Given the description of an element on the screen output the (x, y) to click on. 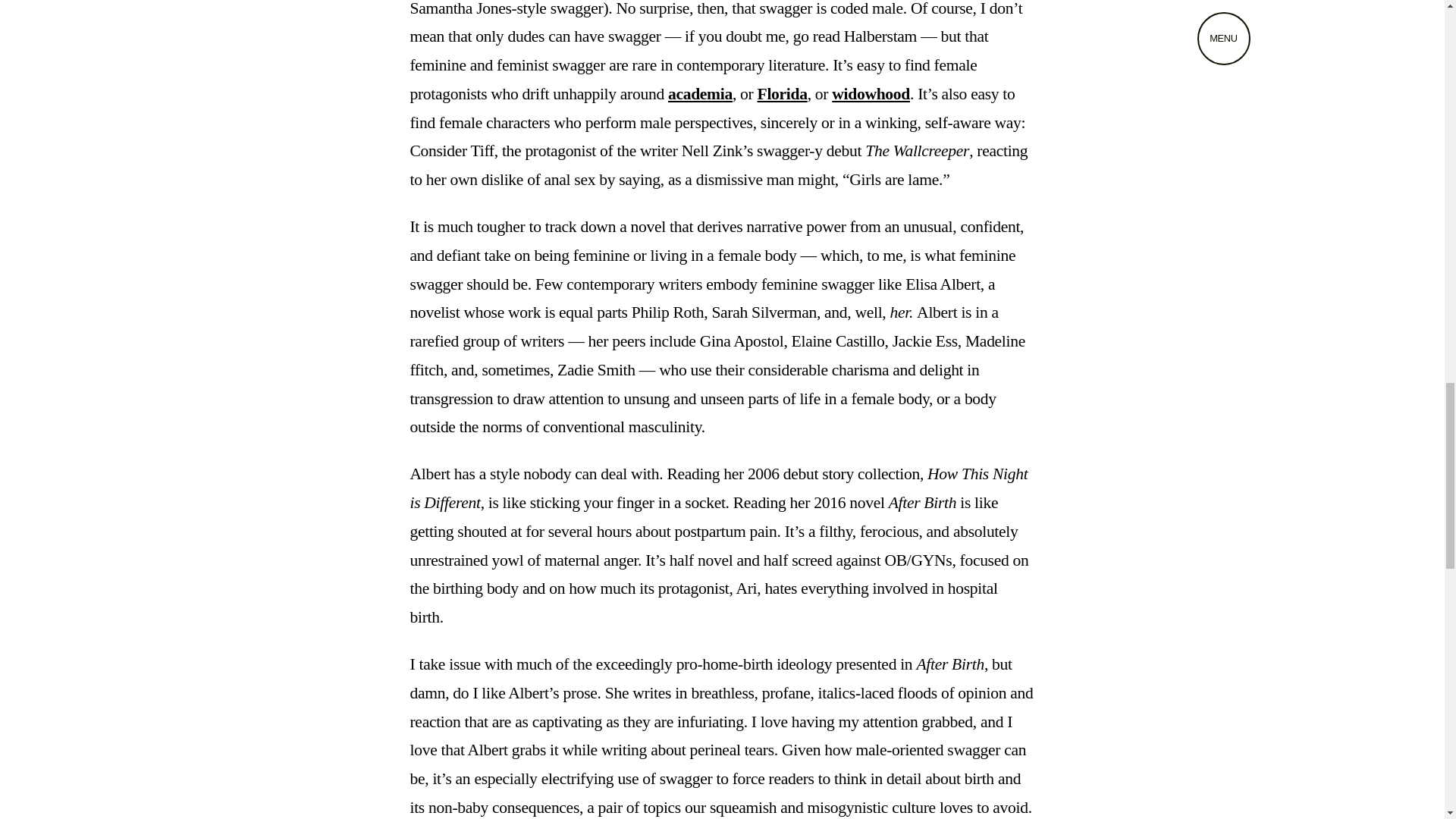
Florida (782, 94)
academia (700, 94)
widowhood (870, 94)
